Given the description of an element on the screen output the (x, y) to click on. 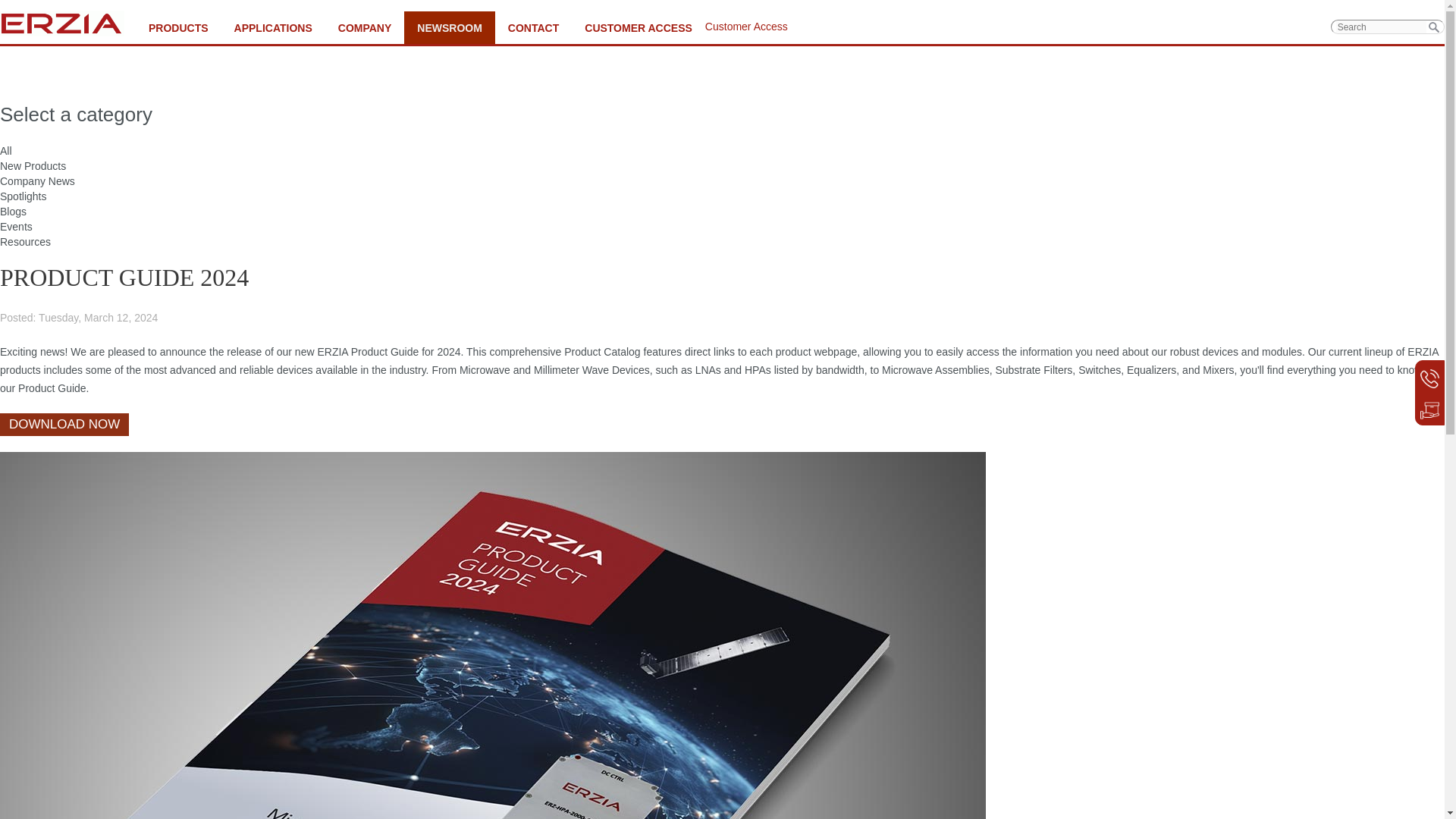
NEWSROOM (449, 27)
Newsroom (449, 27)
CONTACT (533, 27)
Products (178, 27)
Spotlights (23, 196)
PRODUCTS (178, 27)
Company News (37, 181)
COMPANY (364, 27)
Enter the terms you wish to search for. (1381, 27)
Search (1433, 27)
